Given the description of an element on the screen output the (x, y) to click on. 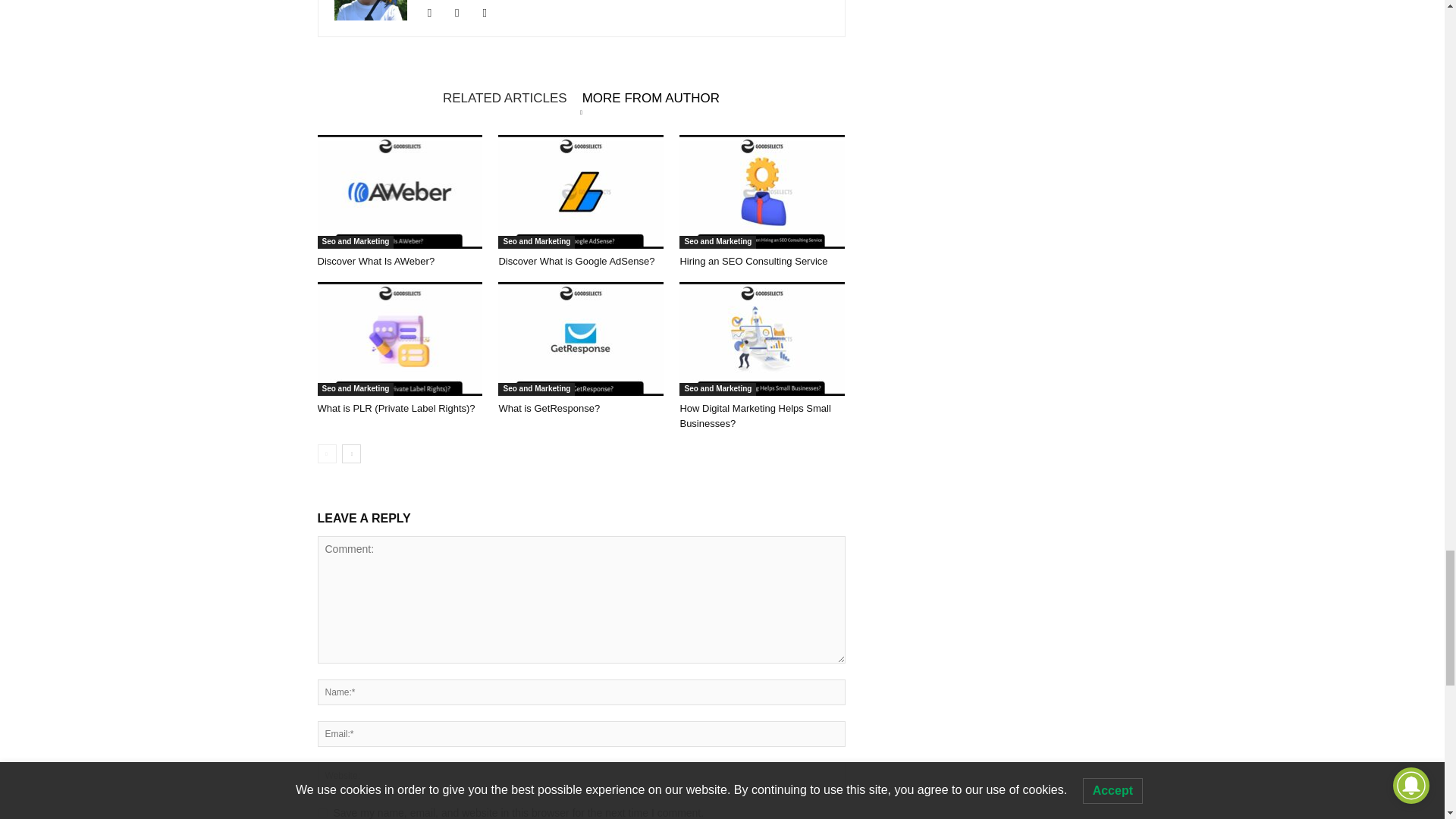
yes (321, 813)
